Given the description of an element on the screen output the (x, y) to click on. 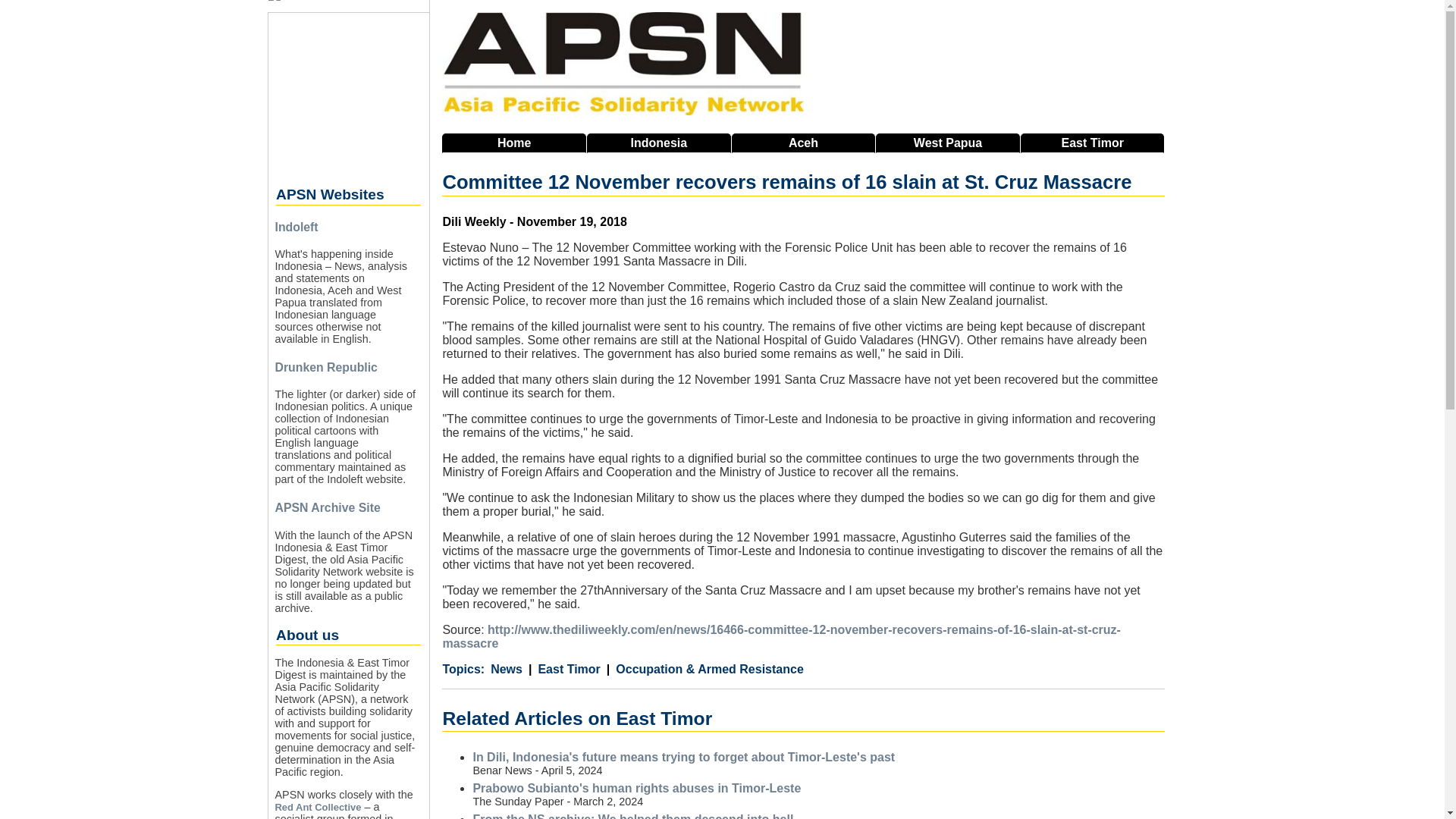
West Papua (948, 143)
Indoleft (296, 226)
Indonesia (658, 143)
News (506, 669)
Aceh (804, 143)
From the NS archive: We helped them descend into hell (632, 816)
Prabowo Subianto's human rights abuses in Timor-Leste (635, 788)
East Timor (563, 669)
Home (514, 143)
Drunken Republic (326, 367)
East Timor (1092, 143)
